Given the description of an element on the screen output the (x, y) to click on. 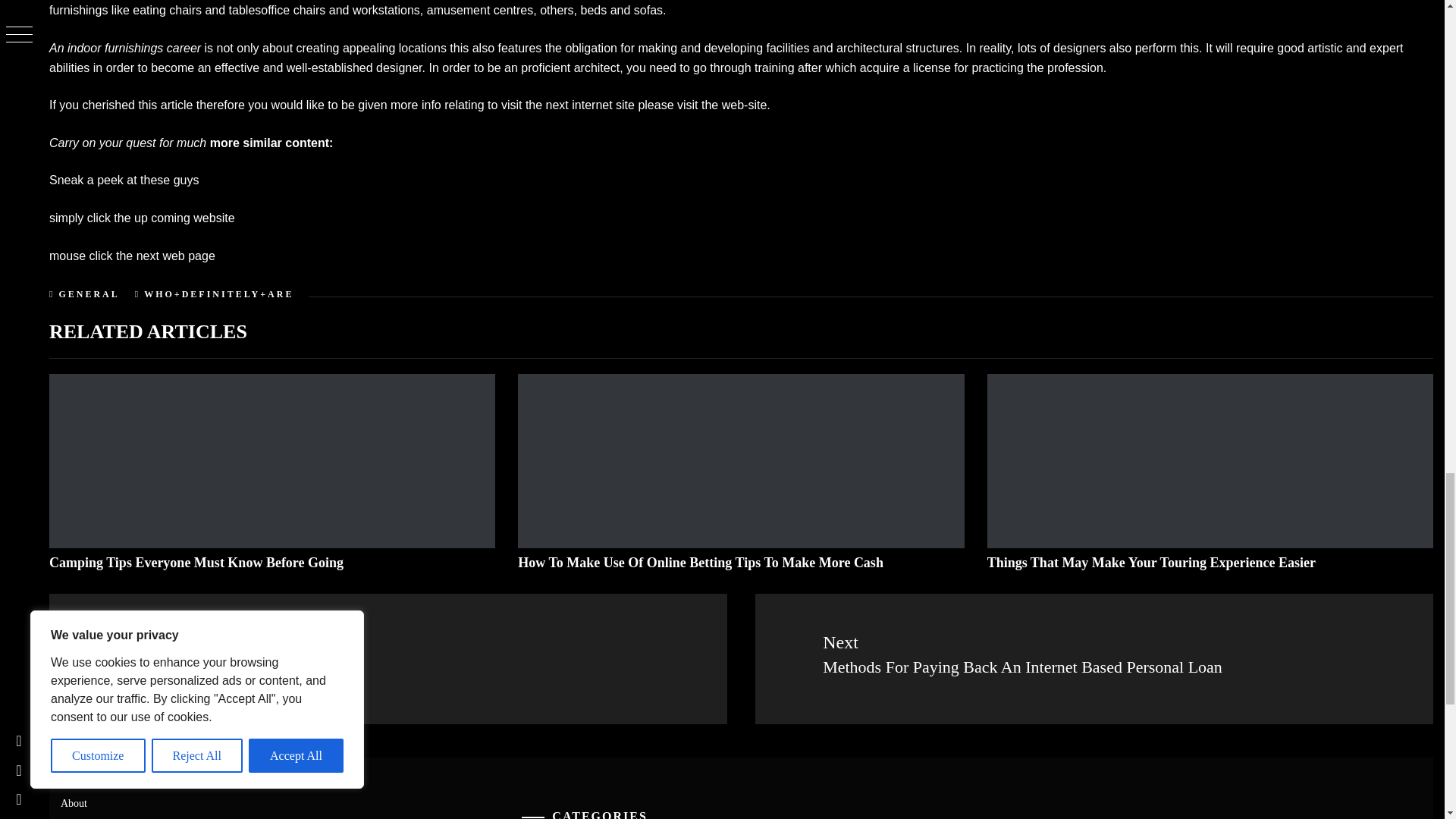
obligation (590, 47)
GENERAL (88, 294)
Sneak a peek at these guys (123, 179)
visit the next internet site (567, 104)
simply click the up coming website (141, 217)
mouse click the next web page (132, 255)
